Given the description of an element on the screen output the (x, y) to click on. 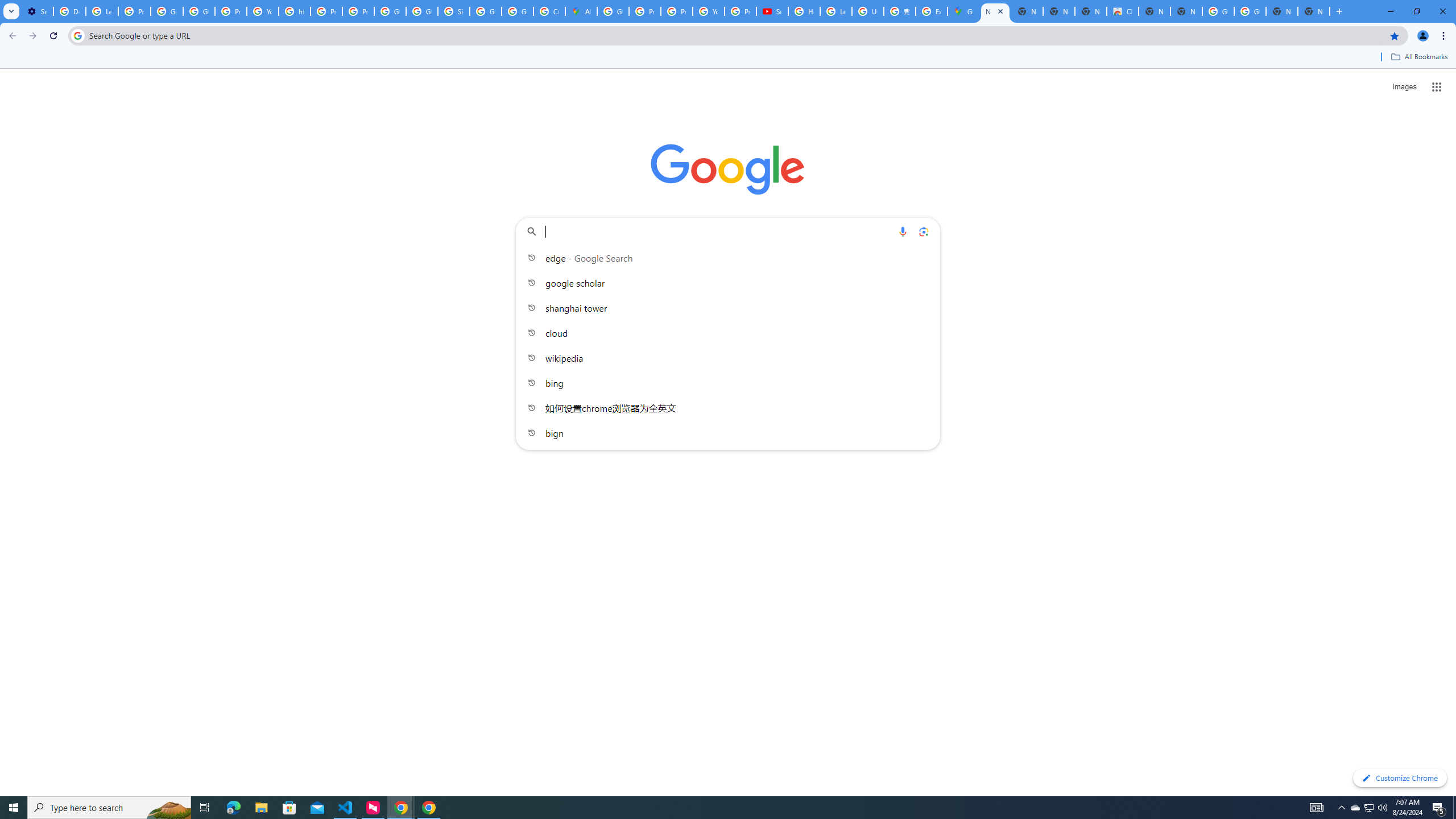
Bookmarks (728, 58)
Search for Images  (1403, 87)
Delete photos & videos - Computer - Google Photos Help (69, 11)
Google Images (1249, 11)
